Given the description of an element on the screen output the (x, y) to click on. 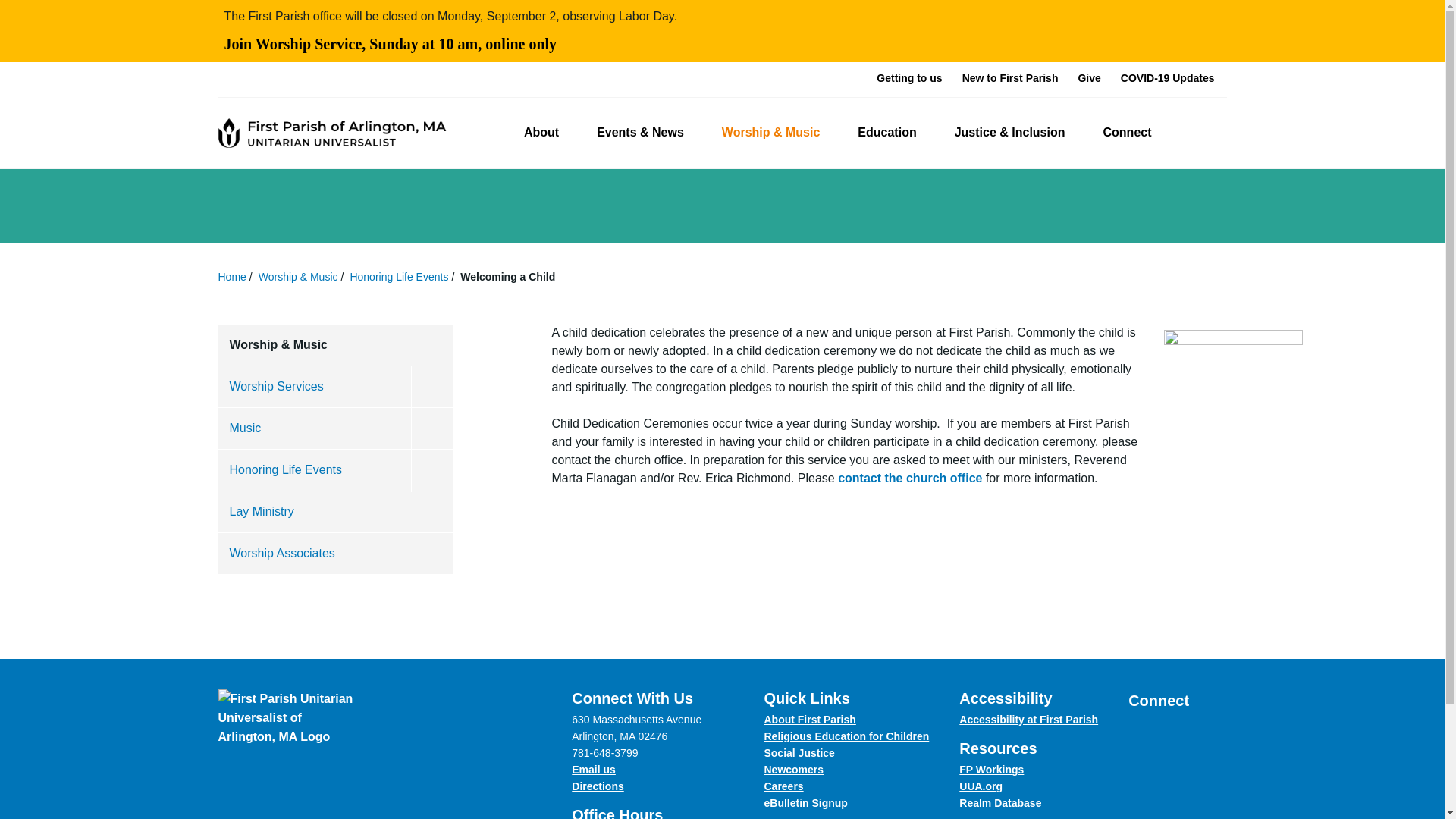
COVID-19 Updates (1168, 77)
About (548, 132)
New to First Parish (1010, 77)
Getting to us (909, 77)
Give (1089, 77)
Close Alert (1210, 31)
